Given the description of an element on the screen output the (x, y) to click on. 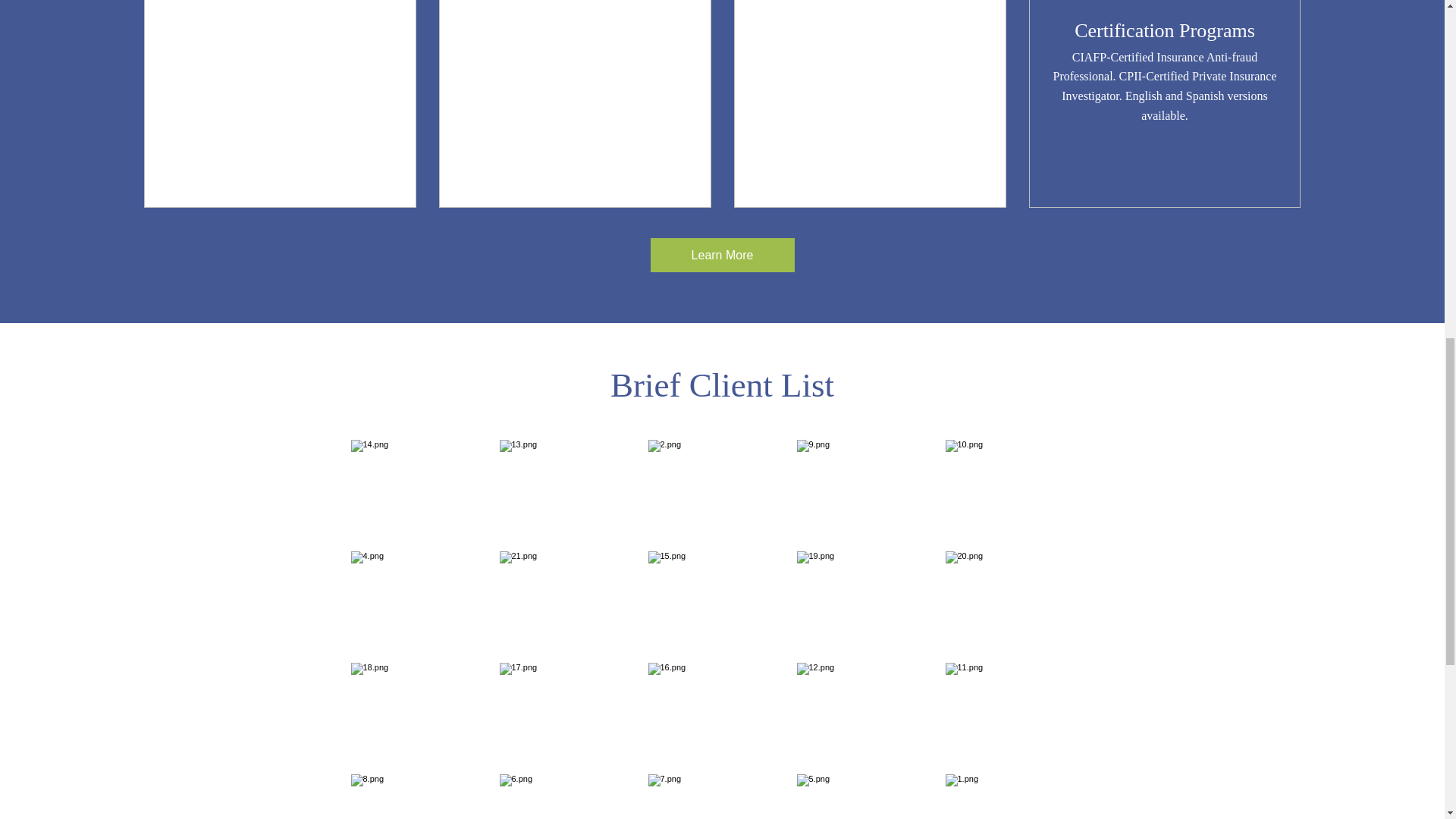
Learn More (722, 254)
